Given the description of an element on the screen output the (x, y) to click on. 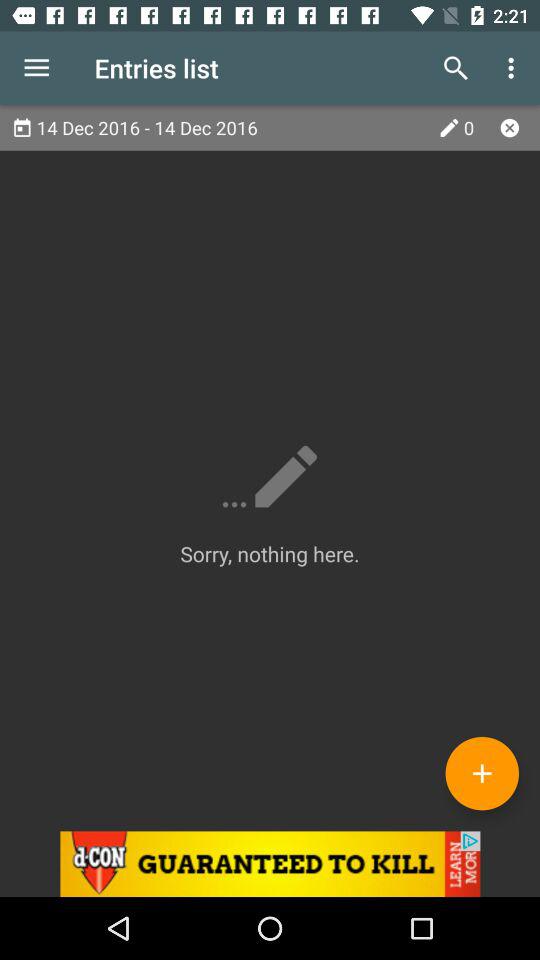
go to increase (482, 773)
